Given the description of an element on the screen output the (x, y) to click on. 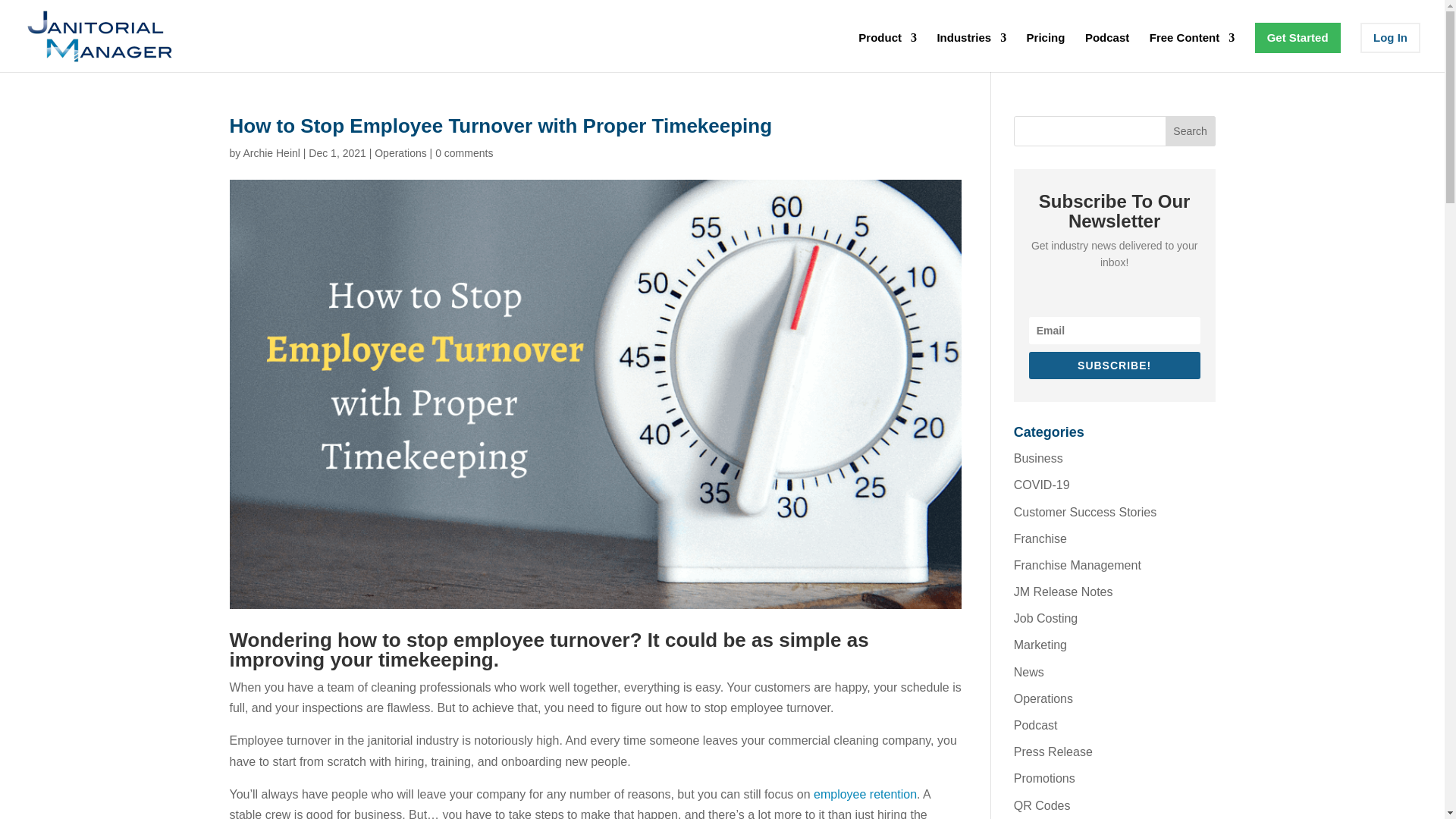
Search (1190, 131)
Get Started (1297, 37)
Posts by Archie Heinl (271, 152)
Free Content (1192, 52)
Industries (971, 52)
Product (888, 52)
Log In (1390, 37)
Podcast (1106, 52)
Pricing (1045, 52)
